Given the description of an element on the screen output the (x, y) to click on. 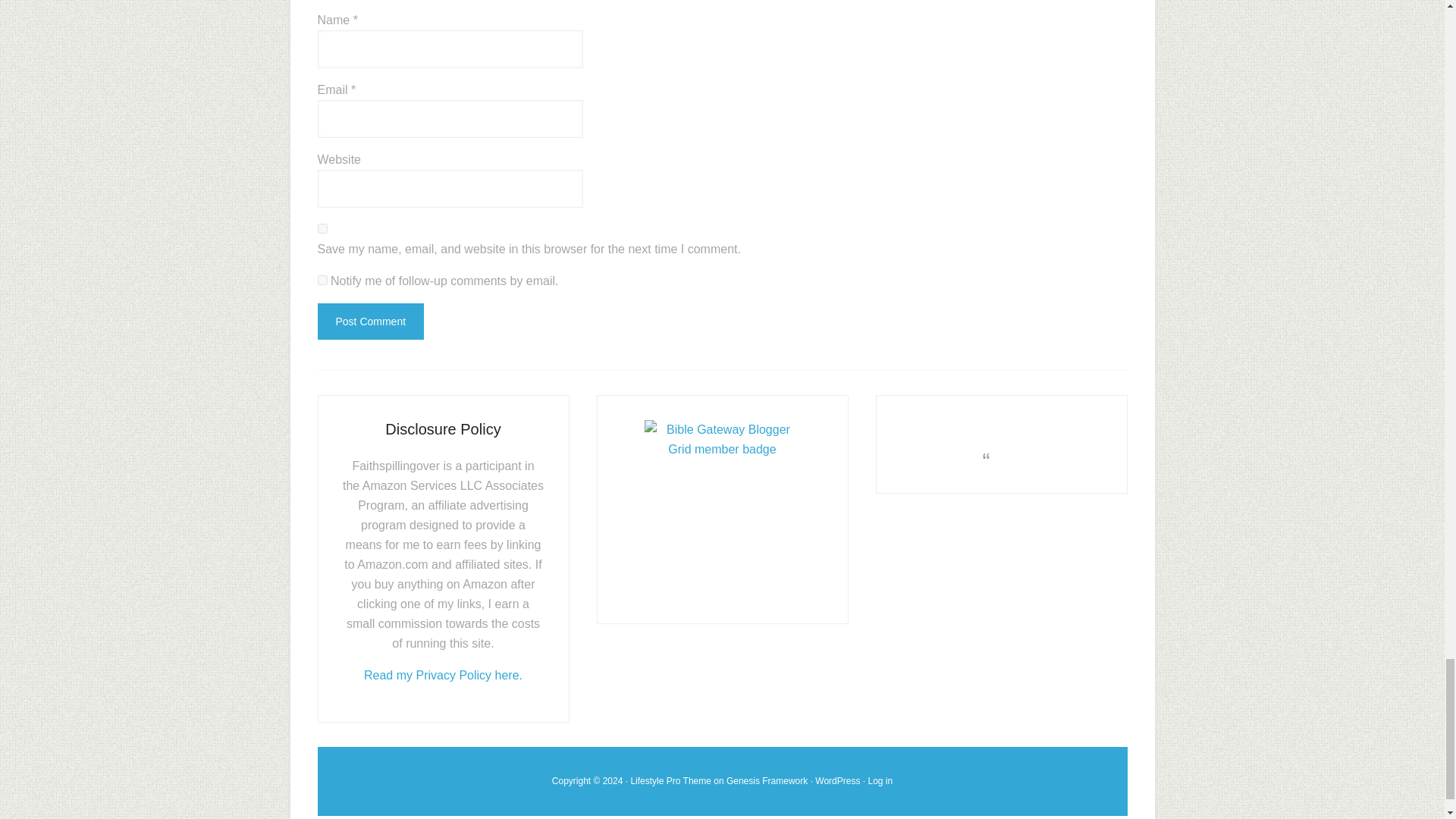
subscribe (321, 280)
Post Comment (370, 321)
yes (321, 228)
Post Comment (370, 321)
